Given the description of an element on the screen output the (x, y) to click on. 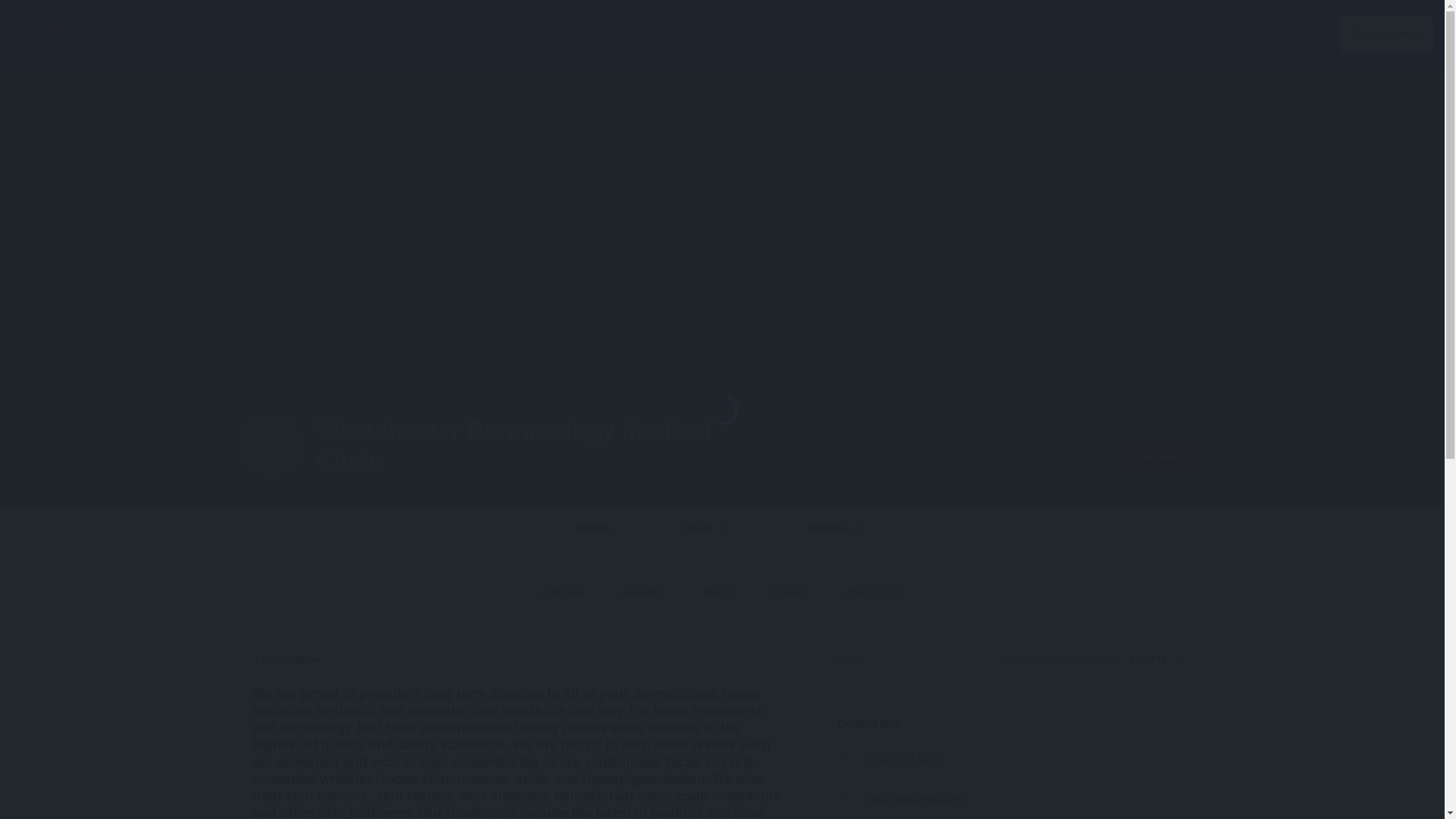
Profile (592, 529)
Report (715, 593)
Explore (1189, 32)
Call now (1154, 456)
Call now (558, 593)
Claim listing (870, 593)
westchester-logo.gif (271, 444)
Website (638, 593)
Add Listing (836, 529)
Register (1385, 33)
Home (707, 529)
Share (1307, 33)
Sign in (1133, 32)
